Given the description of an element on the screen output the (x, y) to click on. 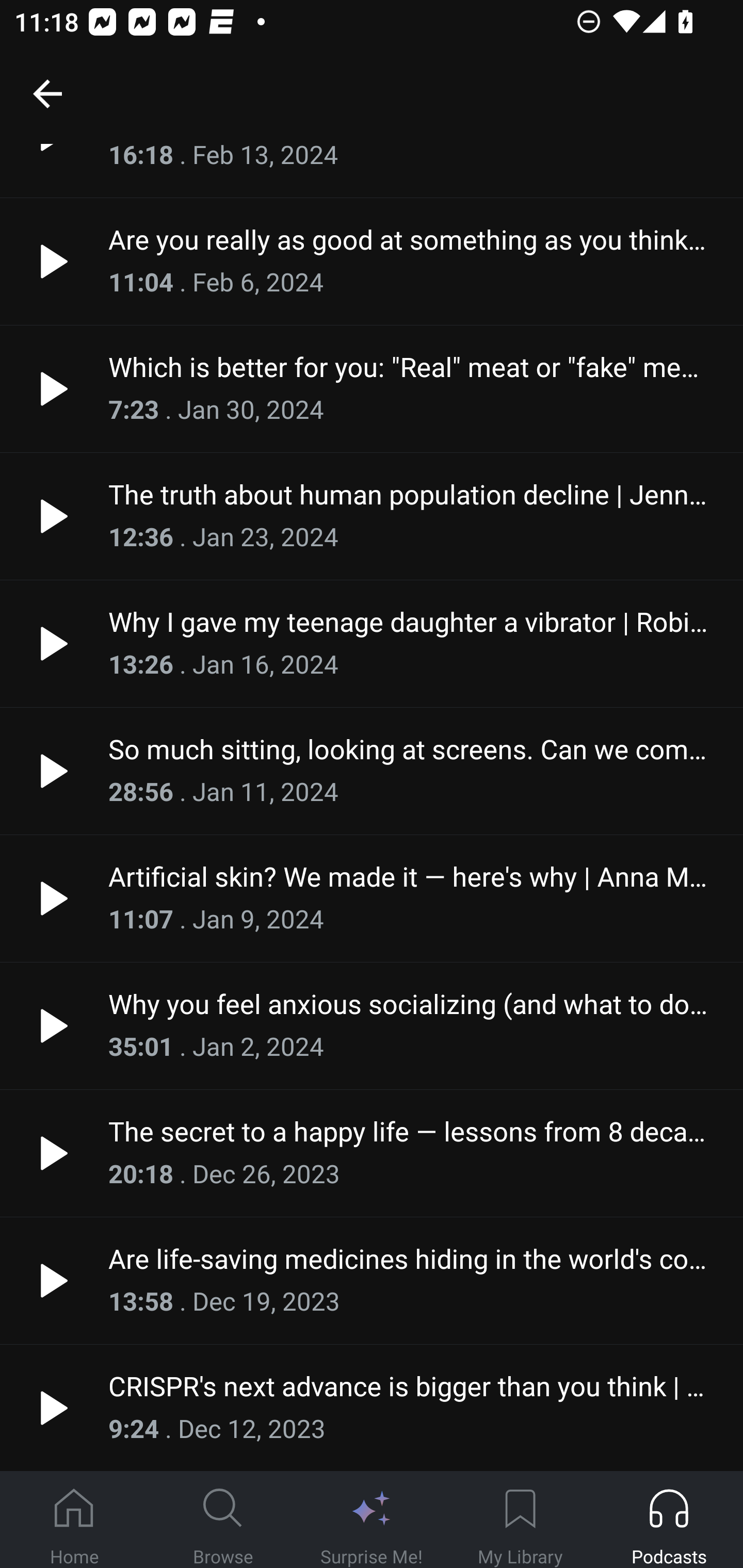
TED Podcasts, back (47, 92)
Home (74, 1520)
Browse (222, 1520)
Surprise Me! (371, 1520)
My Library (519, 1520)
Podcasts (668, 1520)
